Given the description of an element on the screen output the (x, y) to click on. 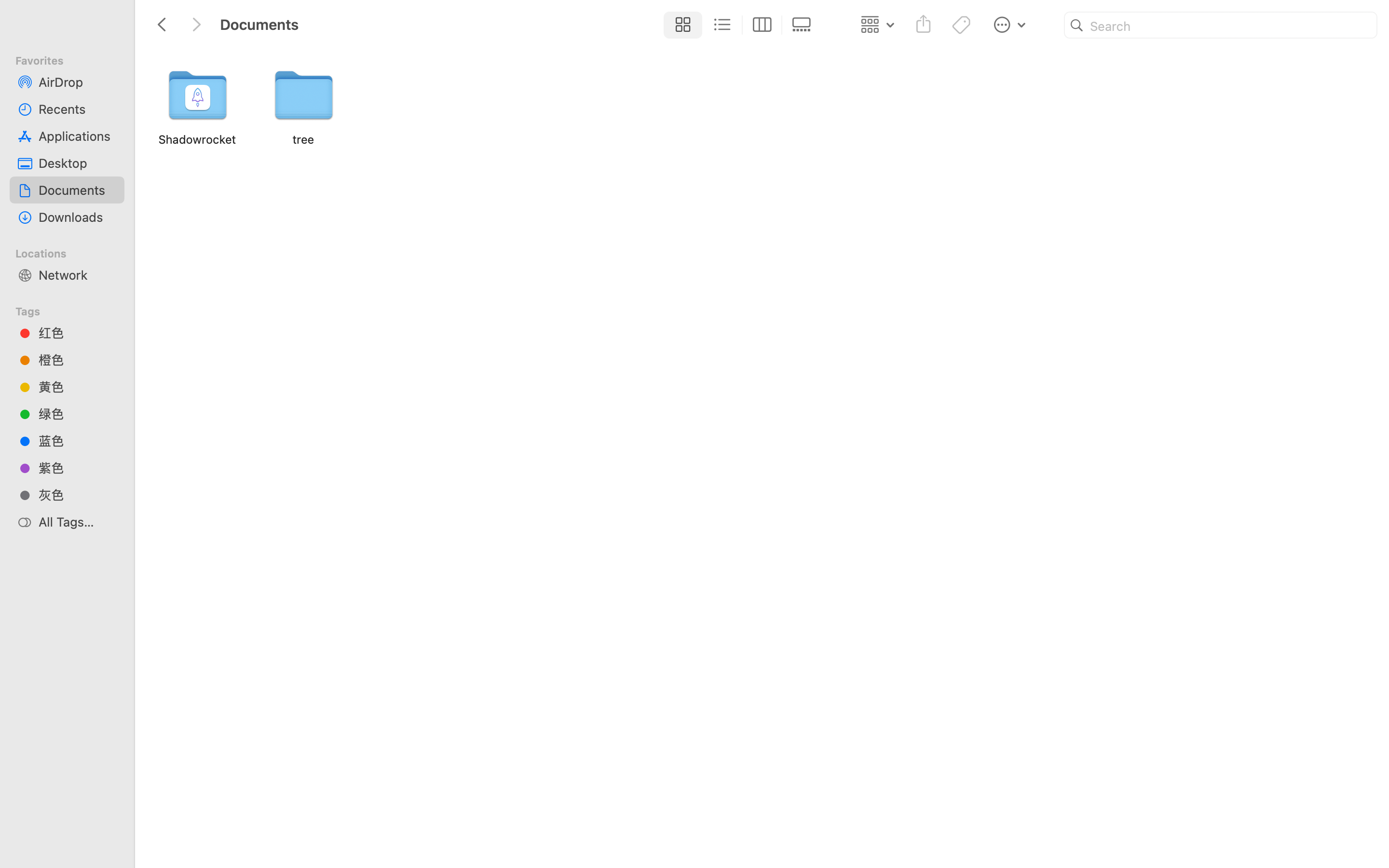
Tags Element type: AXStaticText (72, 309)
1 Element type: AXRadioButton (680, 24)
Documents Element type: AXStaticText (437, 827)
橙色 Element type: AXStaticText (77, 359)
<AXUIElement 0x11e70dd70> {pid=510} Element type: AXRadioGroup (741, 24)
